Given the description of an element on the screen output the (x, y) to click on. 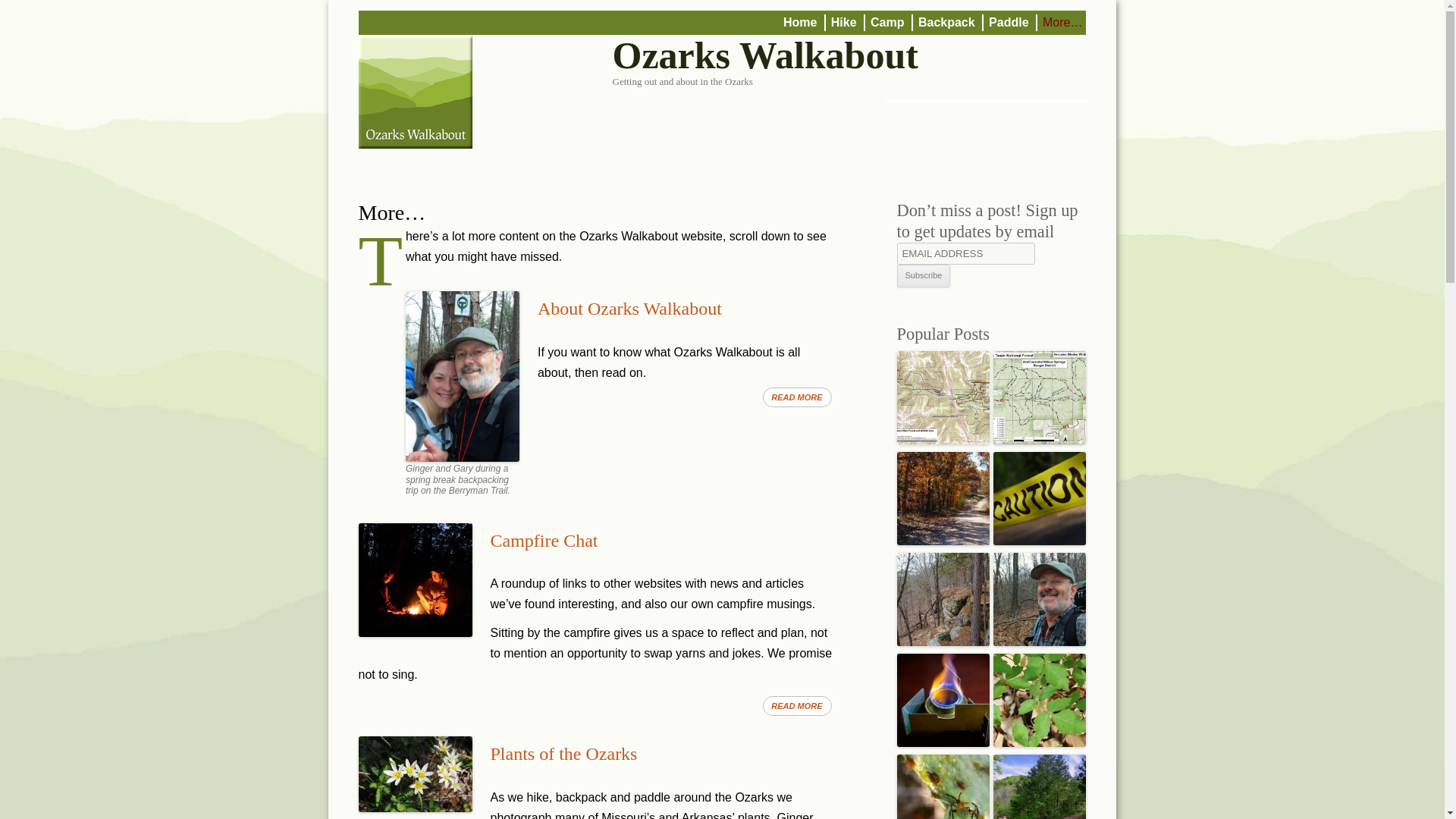
Ozarks Walkabout - getting out and about in the Ozarks (414, 91)
Thoughts and musings on being outdoors and in the Ozarks (796, 705)
Subscribe (923, 275)
Campfire (414, 580)
About Ozarks Walkabout (629, 308)
About Ozarks Walkabout (629, 308)
Ozarks Walkabout (765, 55)
Camp (887, 22)
READ MORE (796, 397)
